Given the description of an element on the screen output the (x, y) to click on. 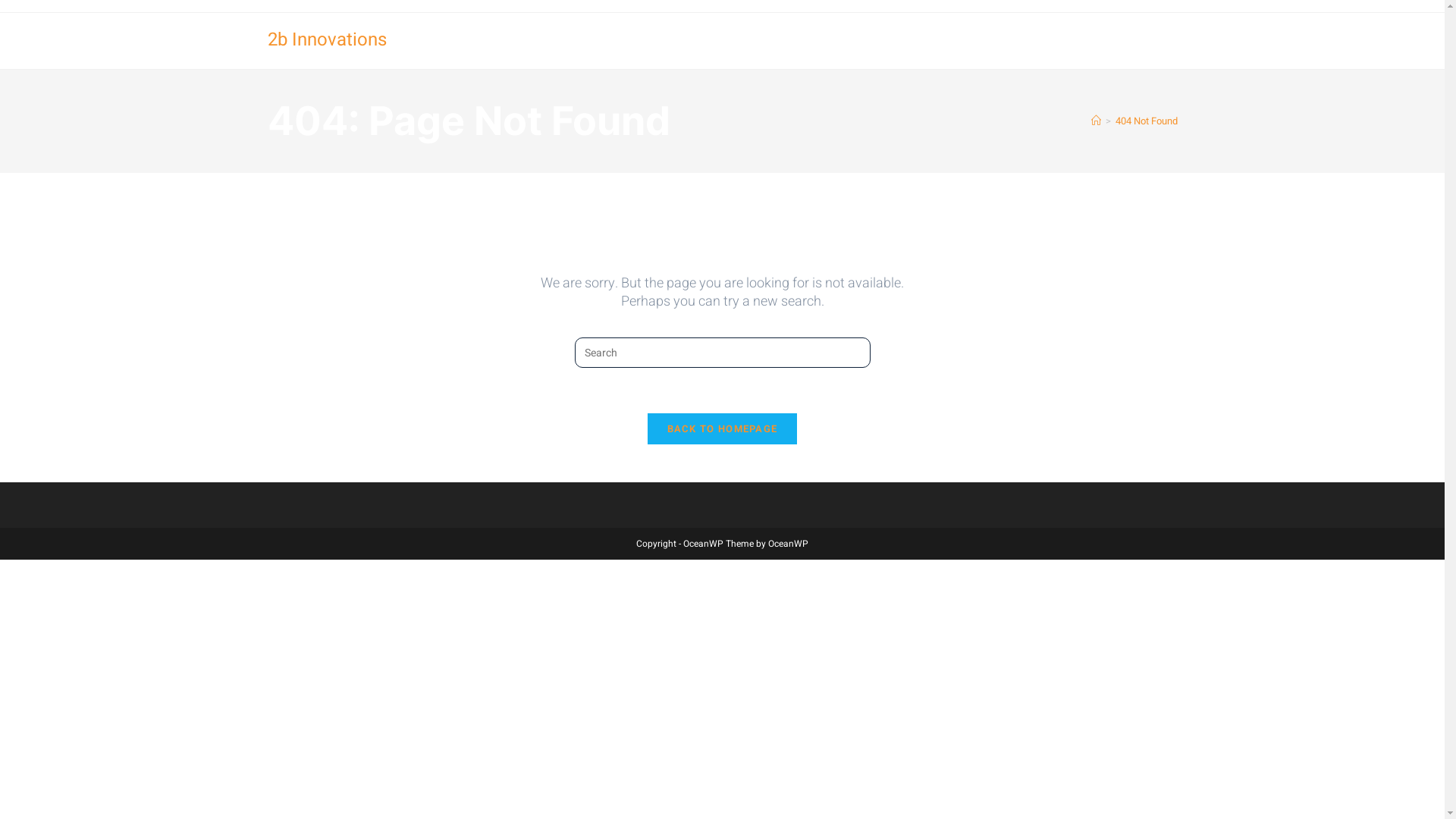
2b Innovations Element type: text (325, 39)
404 Not Found Element type: text (1145, 120)
BACK TO HOMEPAGE Element type: text (722, 428)
